Given the description of an element on the screen output the (x, y) to click on. 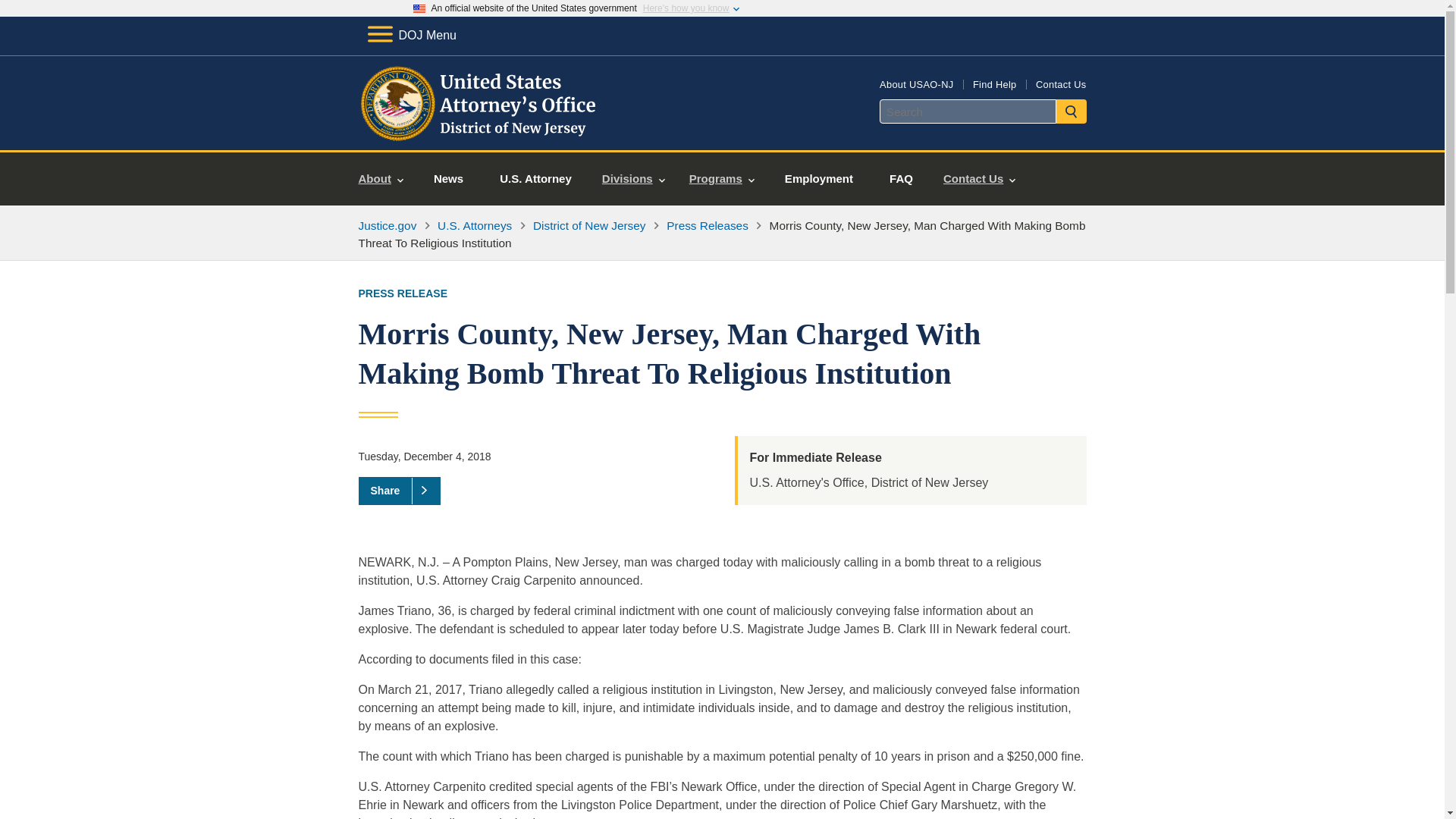
Home (481, 132)
U.S. Attorney (535, 179)
Find Help (994, 84)
Employment (818, 179)
Employment (818, 179)
Justice.gov (387, 225)
Divisions (633, 179)
Contact Us (1060, 84)
About USAO-NJ (916, 84)
District of New Jersey (589, 225)
